Given the description of an element on the screen output the (x, y) to click on. 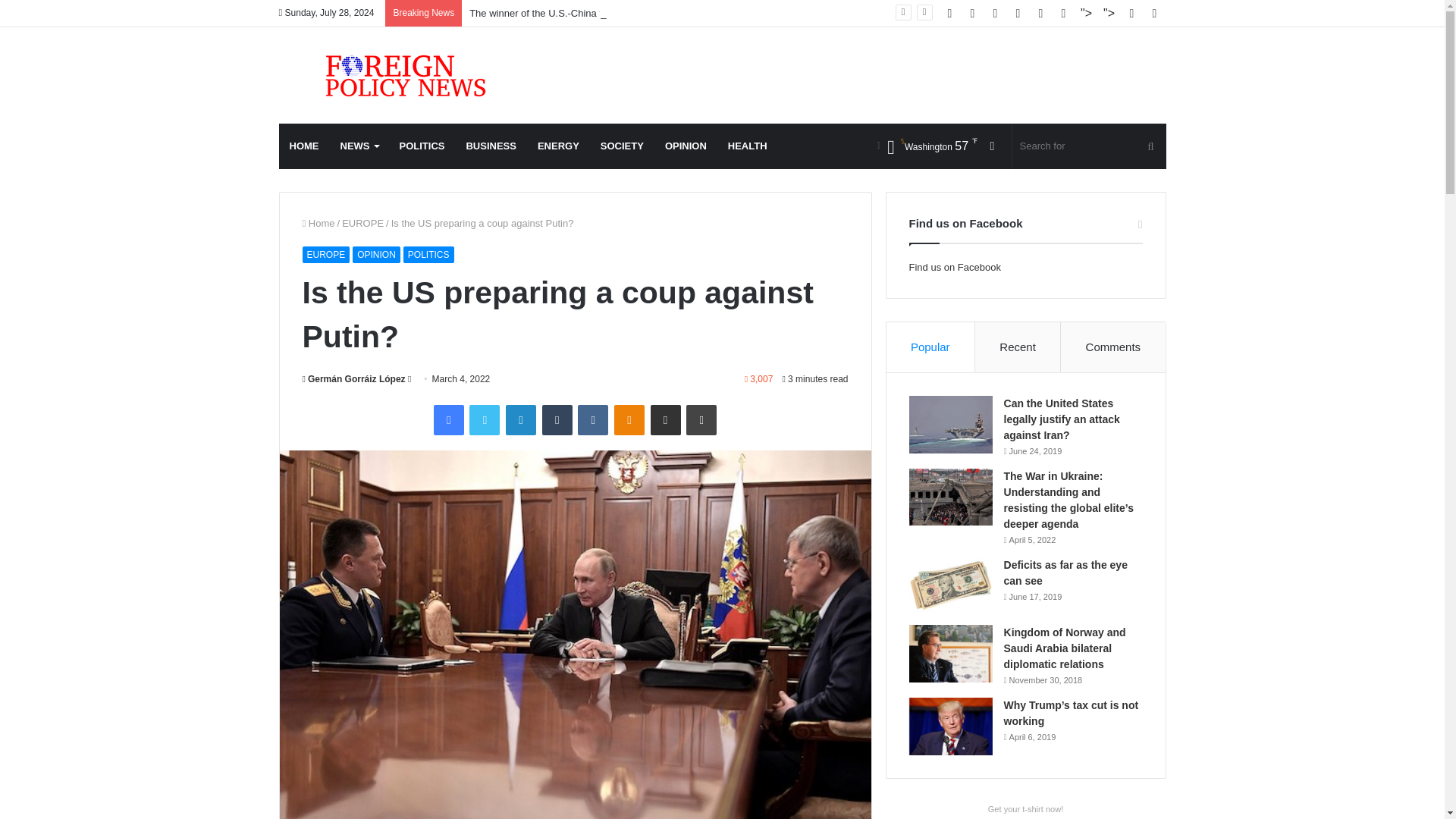
Facebook (448, 419)
Foreign Policy News (387, 75)
POLITICS (428, 254)
LinkedIn (520, 419)
Twitter (483, 419)
OPINION (376, 254)
Random Article (1131, 13)
NEWS (358, 145)
LinkedIn (520, 419)
Twitter (995, 13)
VKontakte (593, 419)
RSS (949, 13)
Facebook (972, 13)
HEALTH (747, 145)
